Given the description of an element on the screen output the (x, y) to click on. 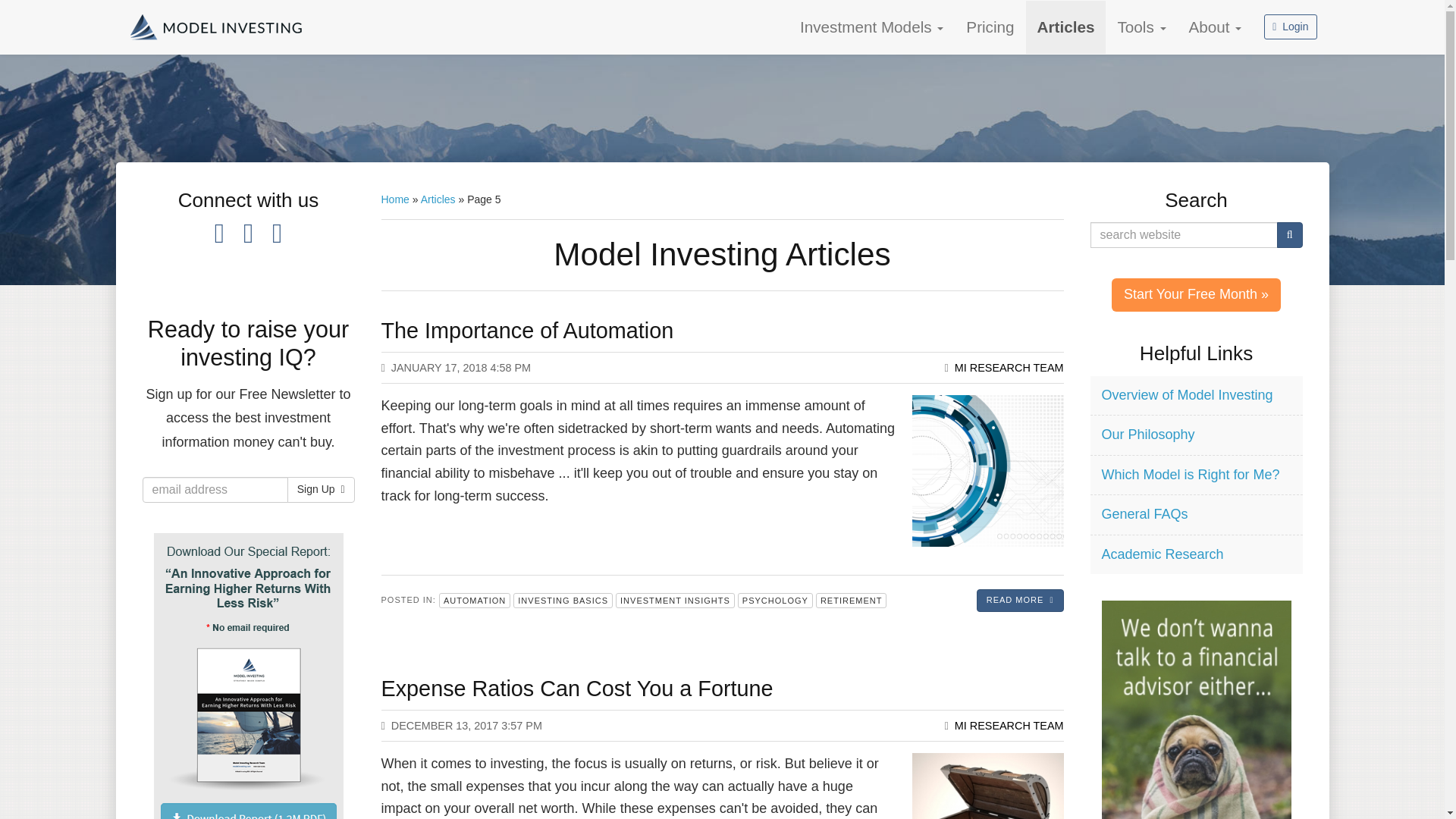
Expense Ratios Can Cost You a Fortune (576, 688)
INVESTMENT INSIGHTS (675, 600)
MI RESEARCH TEAM (1009, 367)
The Importance of Automation (526, 330)
About (1215, 27)
Articles (437, 199)
READ MORE   (1020, 599)
Login (1289, 26)
Home (394, 199)
Articles (1066, 27)
Tools (1140, 27)
Articles (1066, 27)
AUTOMATION (475, 600)
Model Investing (216, 27)
RETIREMENT (850, 600)
